Given the description of an element on the screen output the (x, y) to click on. 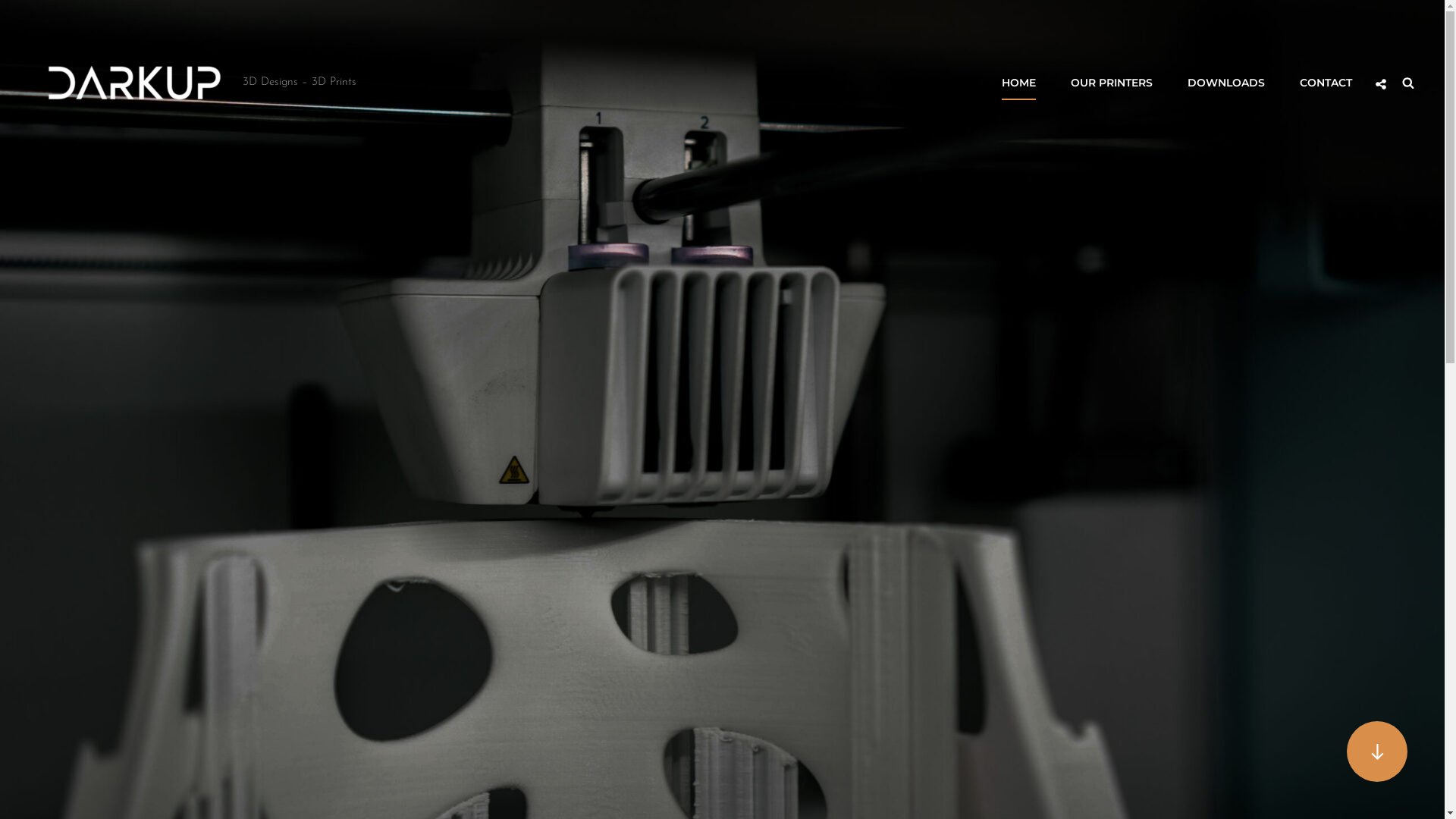
CONTACT Element type: text (1325, 82)
Search Element type: text (1407, 82)
HOME Element type: text (1018, 82)
DOWNLOADS Element type: text (1226, 82)
Social Share Element type: text (1380, 83)
OUR PRINTERS Element type: text (1111, 82)
